Given the description of an element on the screen output the (x, y) to click on. 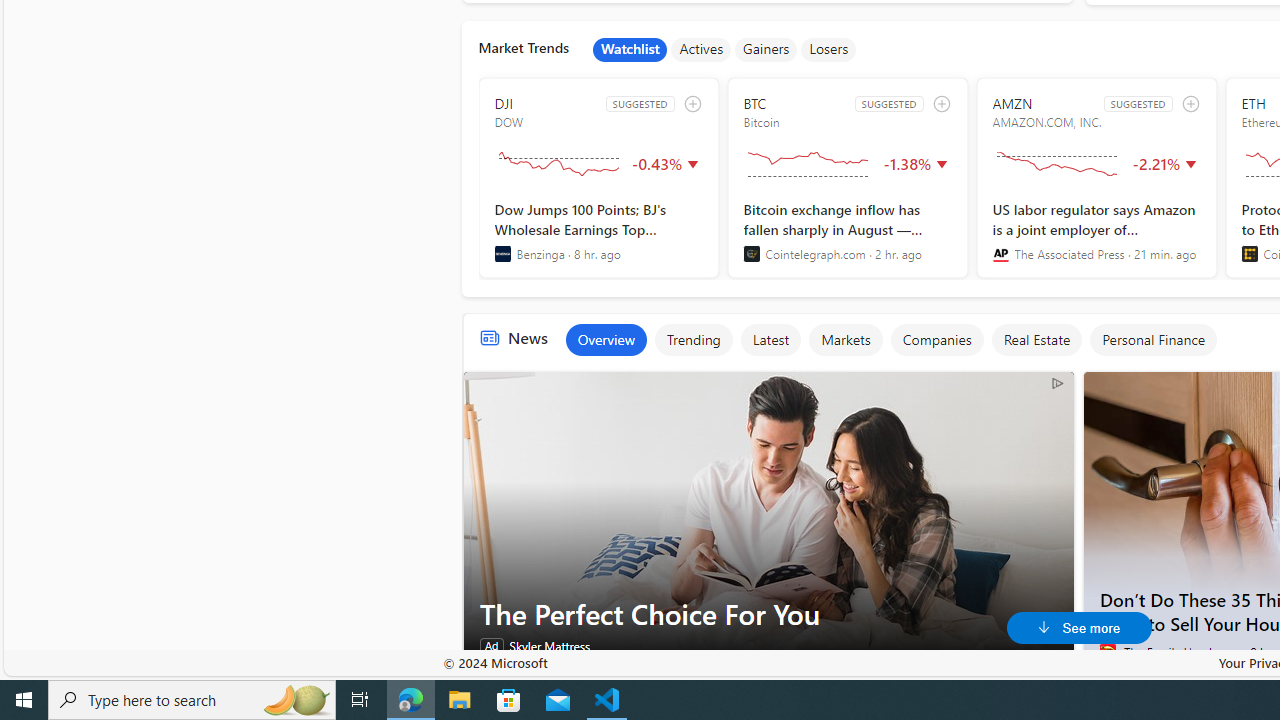
Markets (845, 339)
The Associated Press (1000, 254)
Trending (693, 339)
DJI SUGGESTED DOW (598, 178)
Benzinga (502, 254)
The Family Handyman (1107, 651)
Actives (701, 49)
Companies (936, 339)
Real Estate (1035, 339)
CoinDesk (1249, 254)
AdChoices (1056, 382)
The Perfect Choice For You (768, 521)
